Given the description of an element on the screen output the (x, y) to click on. 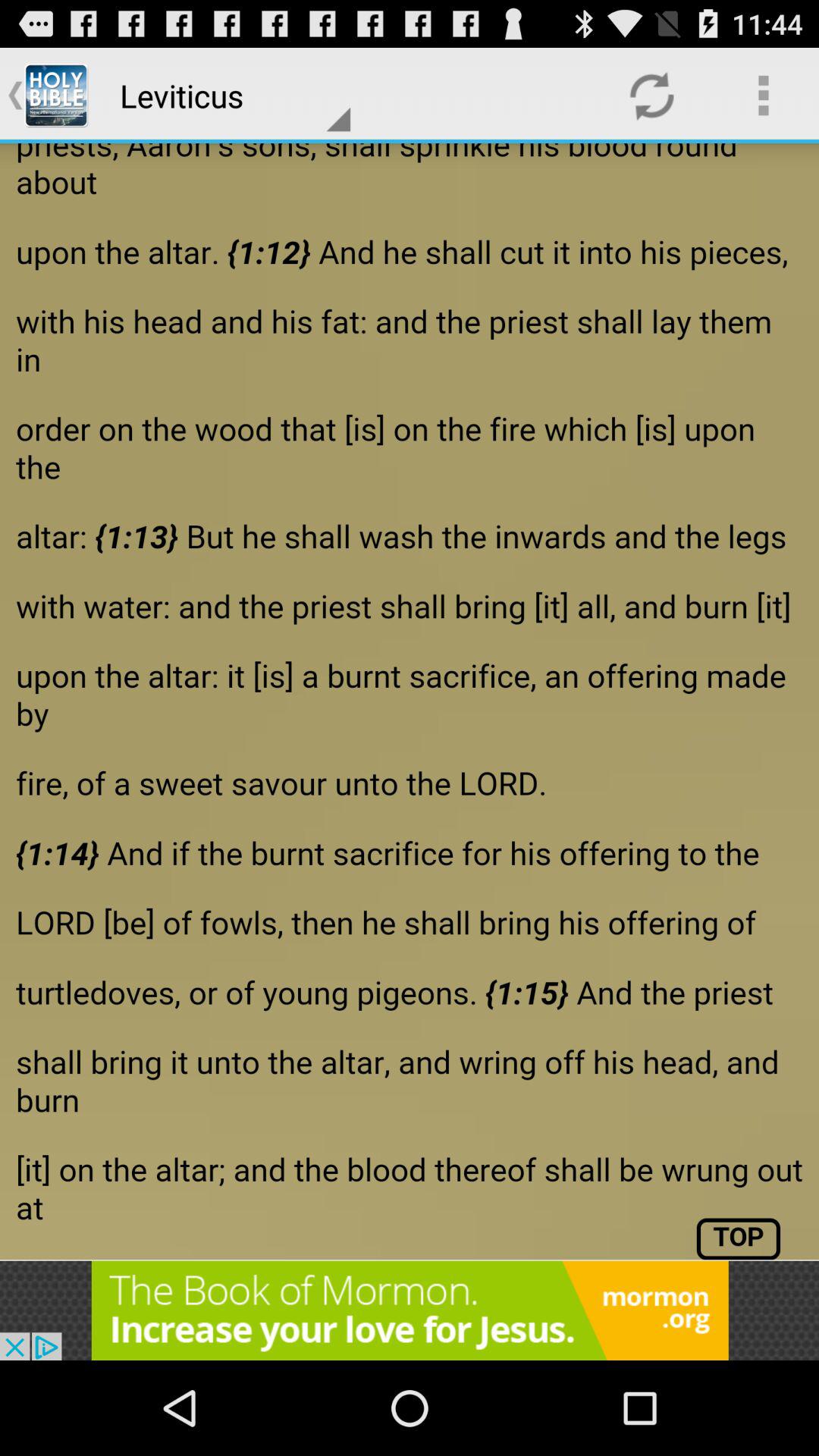
advertisement for book of mormon (409, 1310)
